Given the description of an element on the screen output the (x, y) to click on. 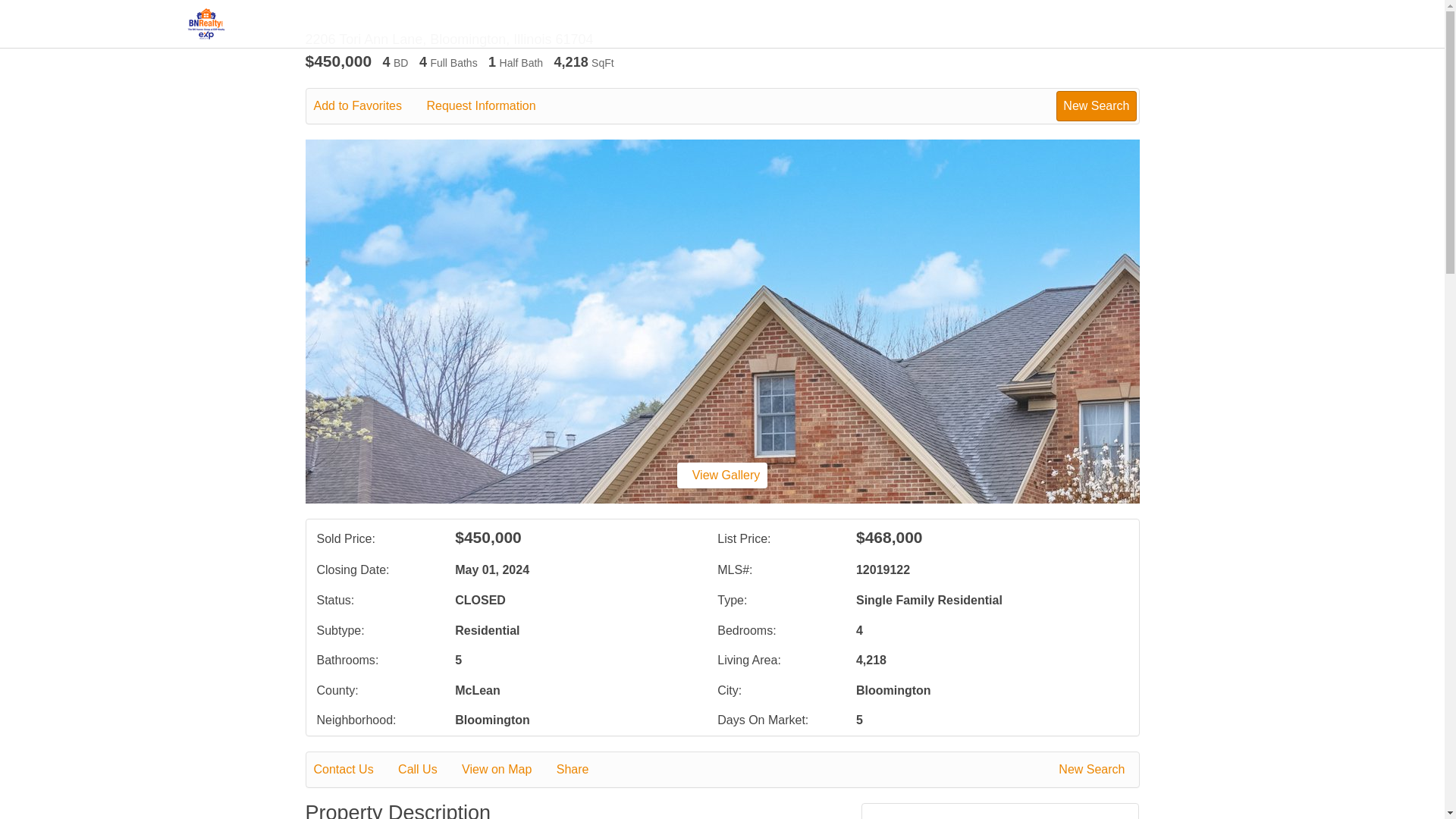
Request Information (491, 106)
New Search (1094, 769)
Call Us (427, 769)
View on Map (507, 769)
Contact Us (354, 769)
Add to Favorites (368, 106)
Share (583, 769)
View Gallery (722, 474)
View Gallery (722, 475)
New Search (1096, 105)
